Given the description of an element on the screen output the (x, y) to click on. 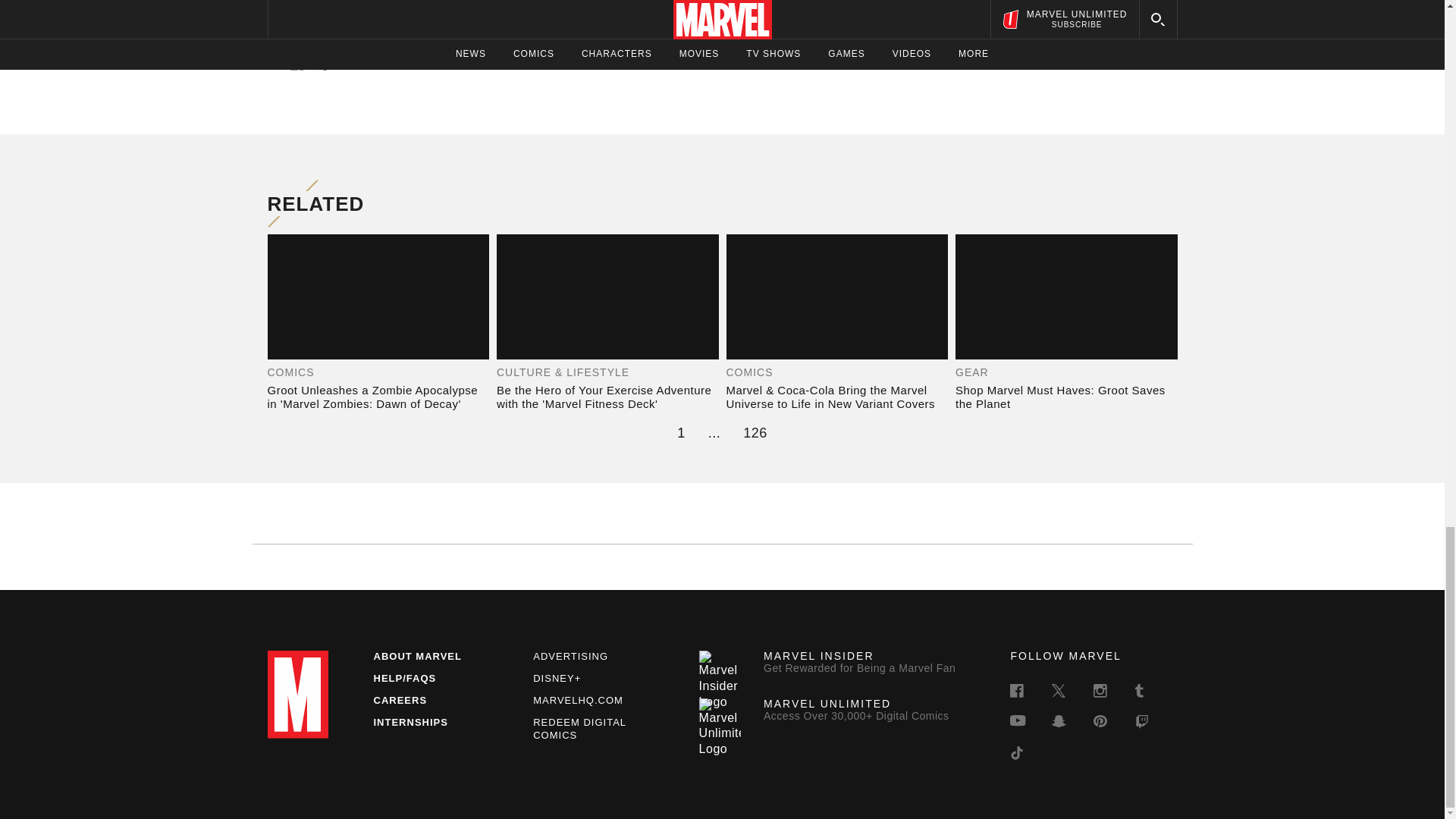
Drax (301, 18)
Ronan (508, 18)
Groot (471, 18)
Gamora (863, 4)
Guardians of the Galaxy (656, 4)
